Given the description of an element on the screen output the (x, y) to click on. 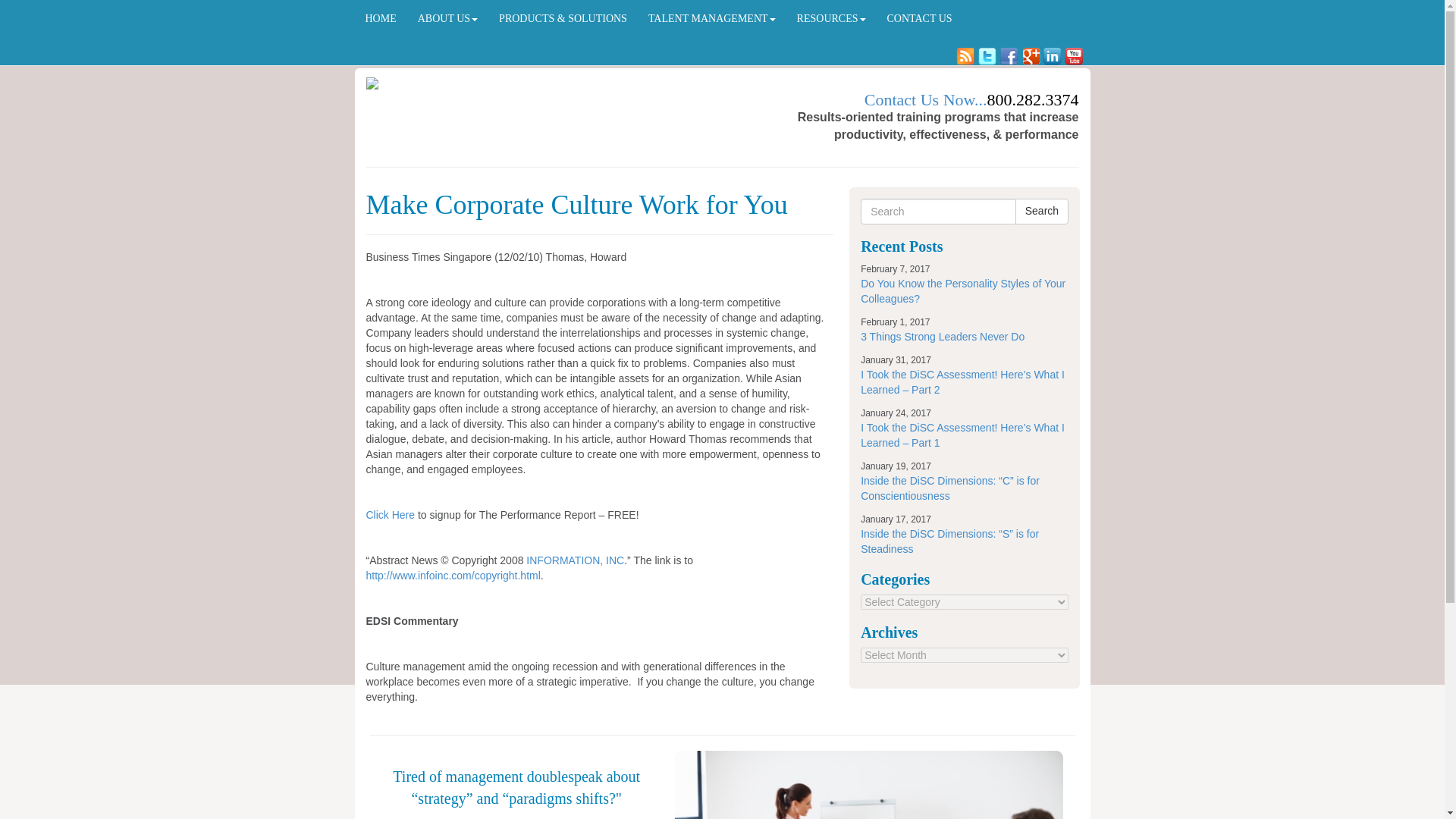
TALENT MANAGEMENT (711, 18)
ABOUT US (447, 18)
HOME (381, 18)
CONTACT US (919, 18)
RESOURCES (831, 18)
